Given the description of an element on the screen output the (x, y) to click on. 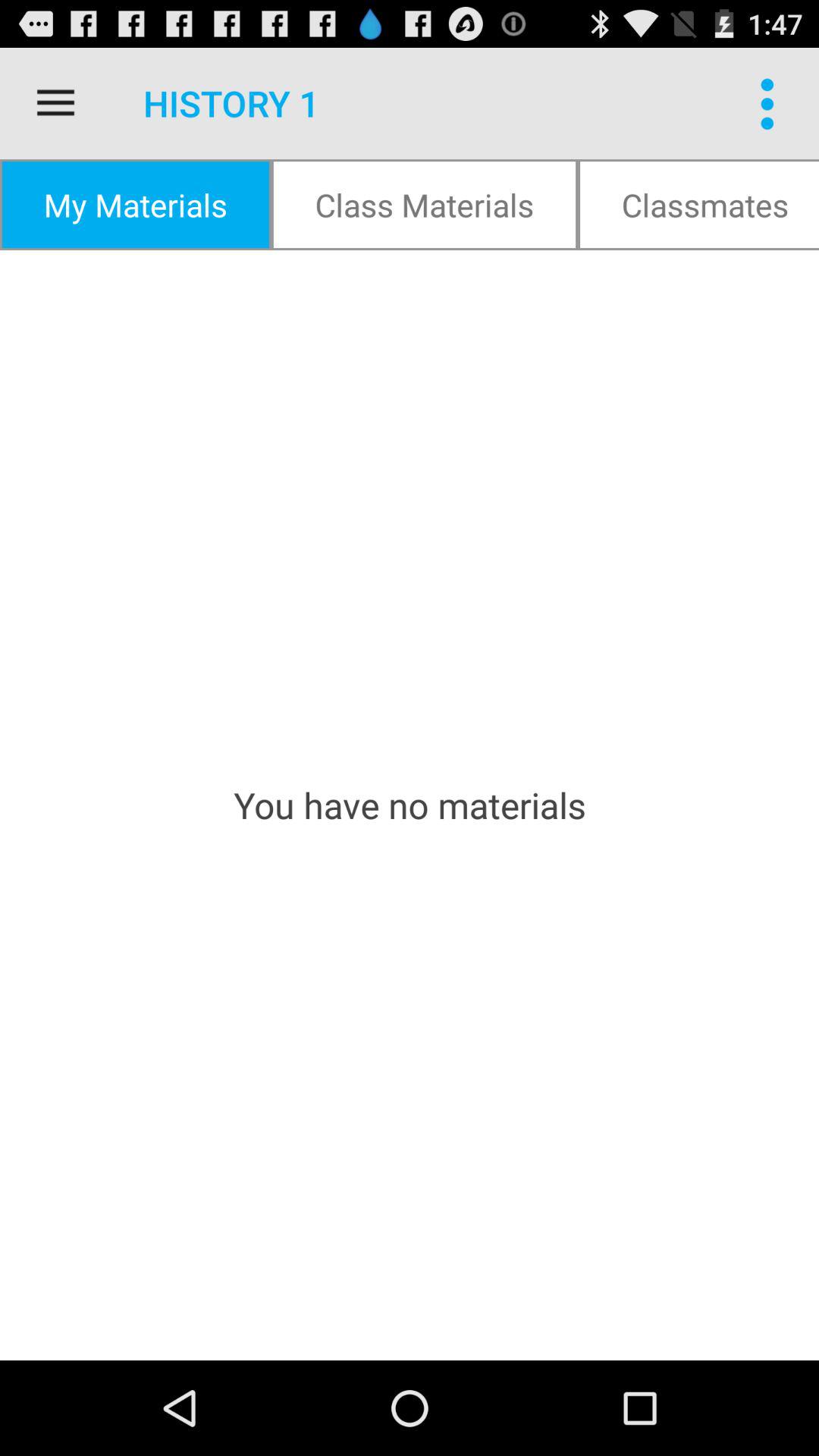
turn off item above the you have no (135, 204)
